Given the description of an element on the screen output the (x, y) to click on. 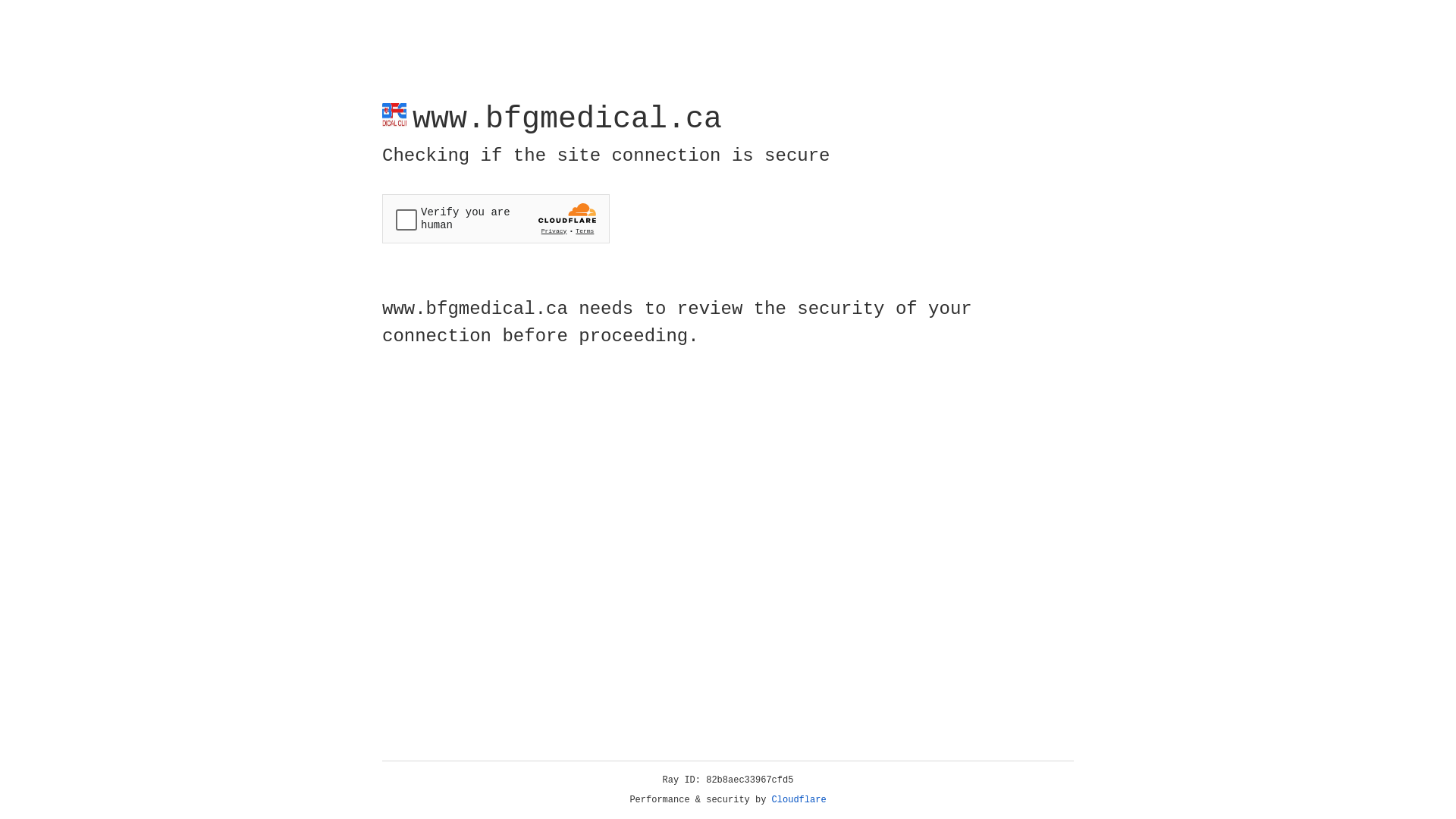
Widget containing a Cloudflare security challenge Element type: hover (495, 218)
Cloudflare Element type: text (798, 799)
